Given the description of an element on the screen output the (x, y) to click on. 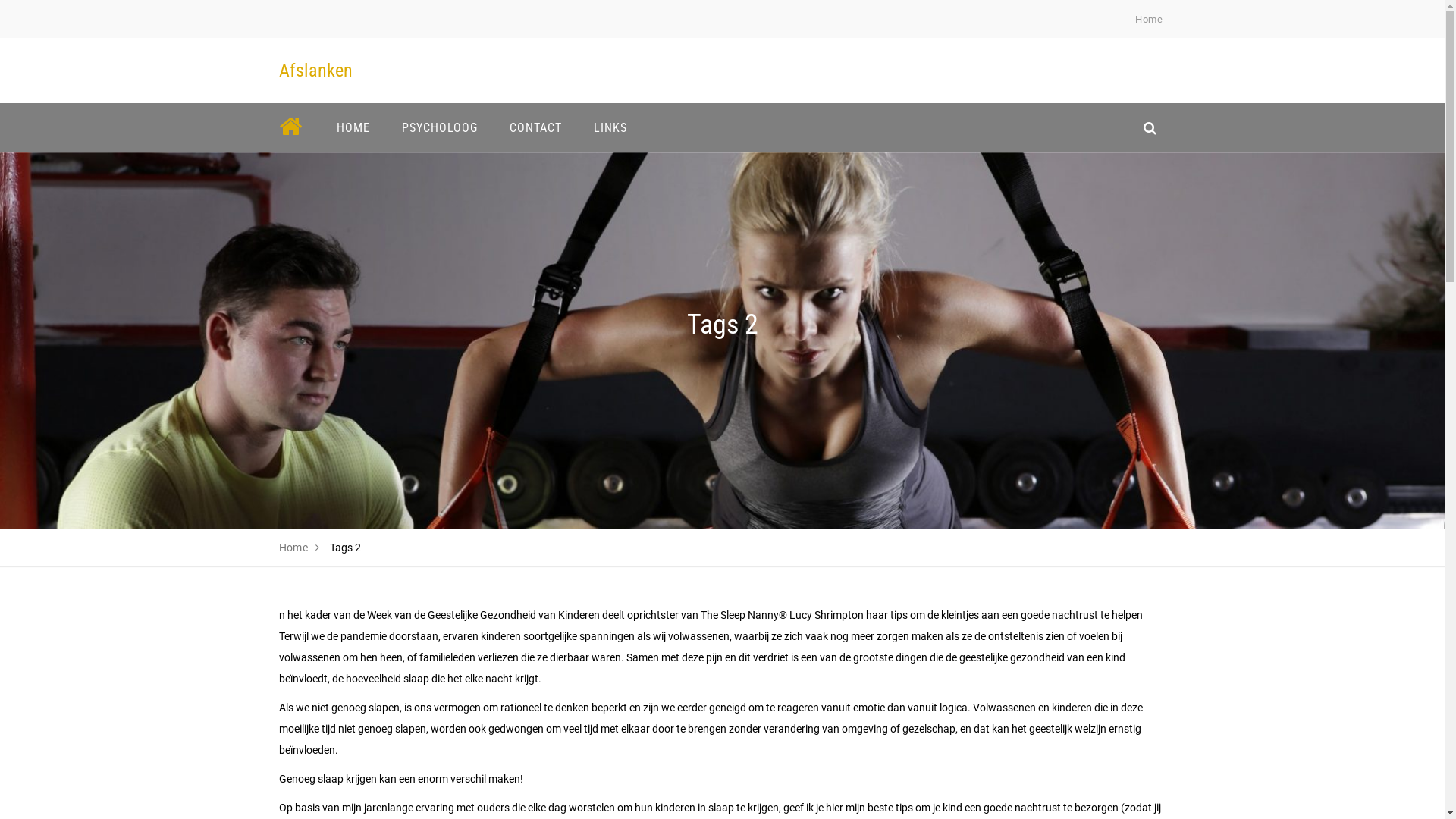
CONTACT Element type: text (534, 127)
HOME Element type: text (352, 127)
Home Element type: text (293, 547)
search_icon Element type: hover (1148, 127)
LINKS Element type: text (610, 127)
PSYCHOLOOG Element type: text (438, 127)
Home Element type: text (1148, 19)
Afslanken Element type: text (315, 70)
